Given the description of an element on the screen output the (x, y) to click on. 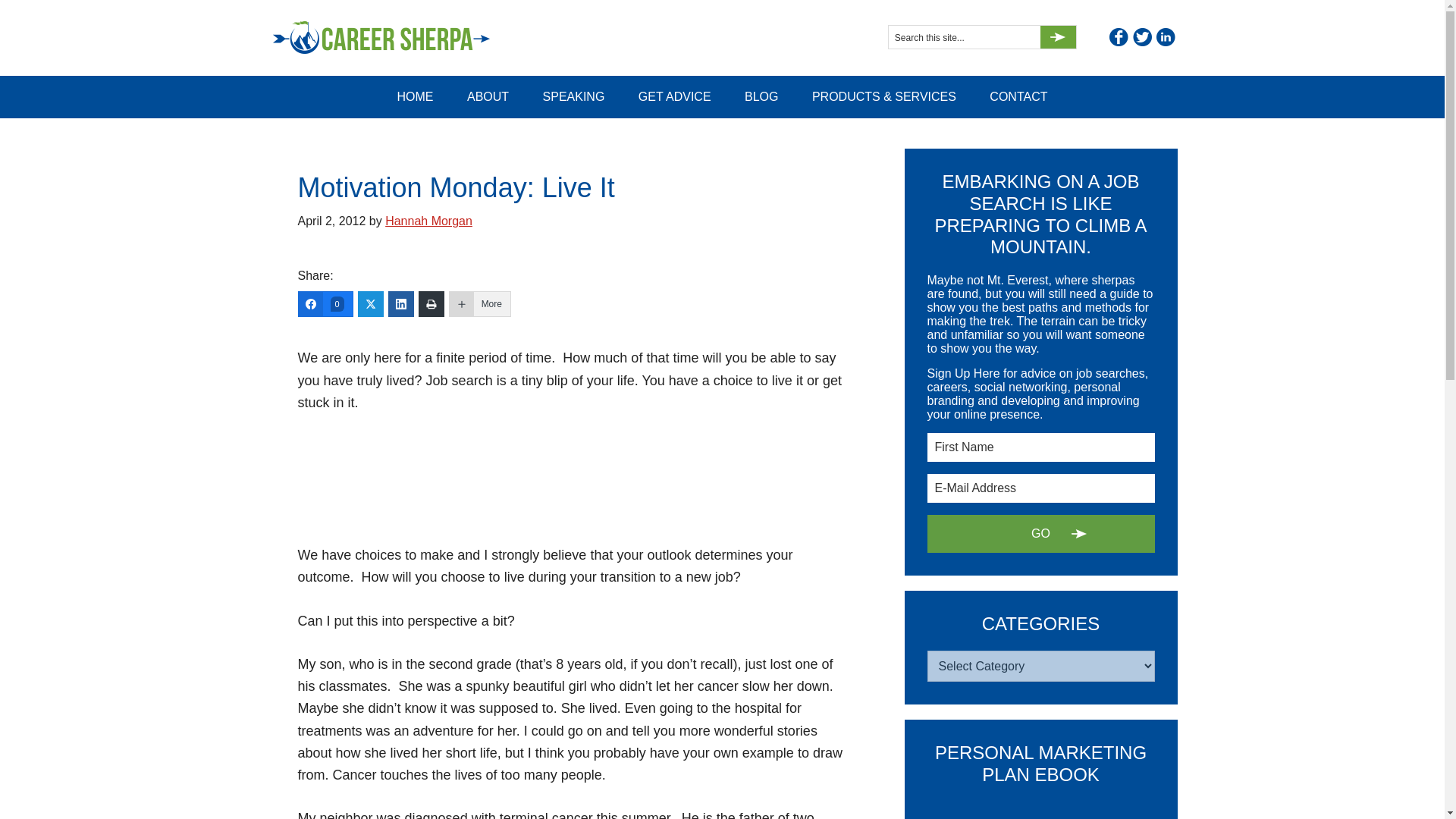
Facebook (1117, 36)
Twitter (1141, 36)
0 (324, 303)
Go (1058, 36)
Linkedin (1165, 36)
Hannah Morgan (428, 220)
BLOG (761, 96)
More (479, 303)
Go (1040, 533)
HOME (414, 96)
Go (1058, 36)
Go (1058, 36)
GET ADVICE (674, 96)
CONTACT (1018, 96)
